Given the description of an element on the screen output the (x, y) to click on. 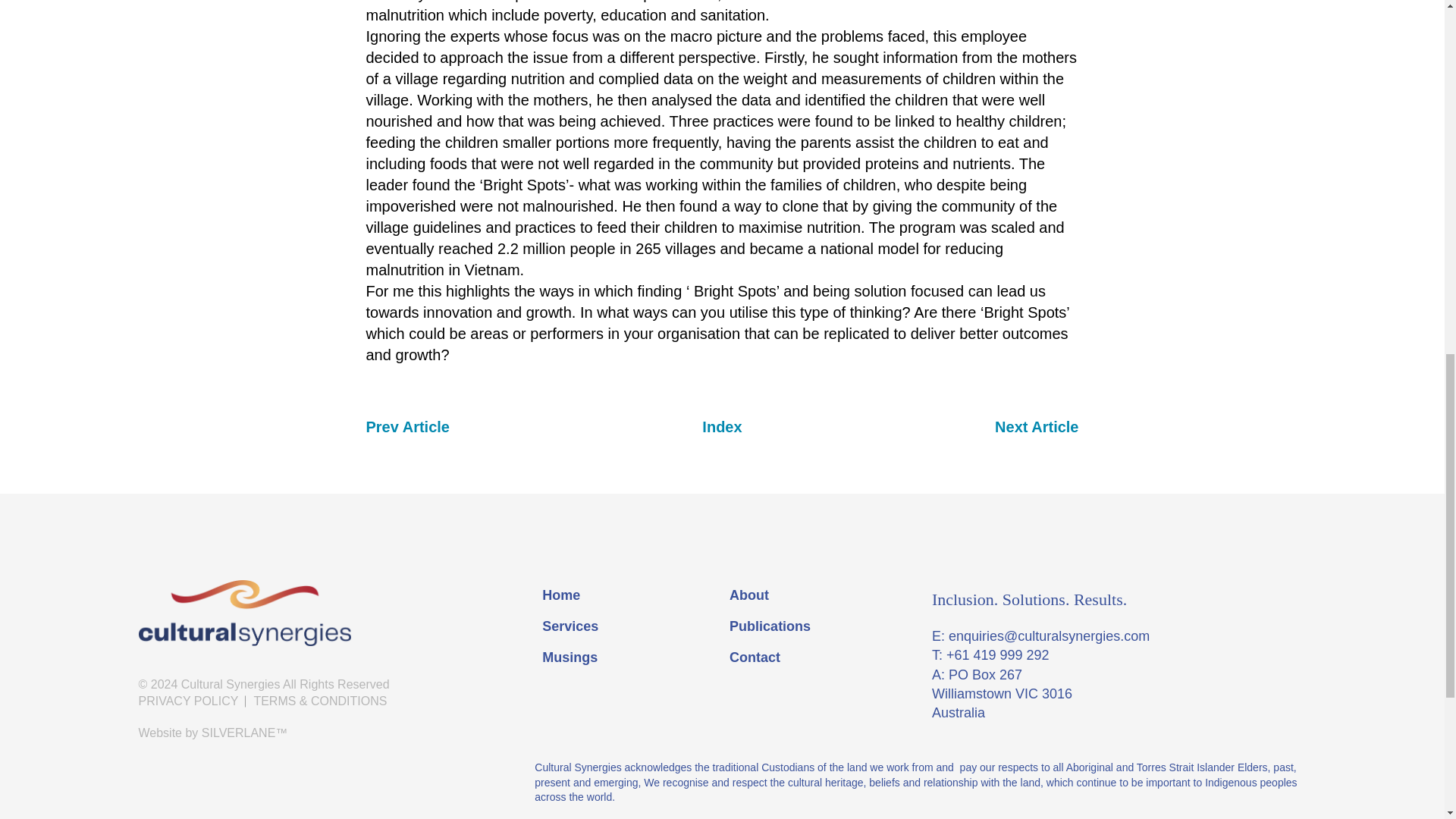
PRIVACY POLICY (192, 701)
Index (721, 426)
Prev Article (406, 426)
Publications (815, 626)
Home (627, 595)
About (815, 595)
Contact (815, 657)
Services (627, 626)
Next Article (1036, 426)
Musings (627, 657)
